Given the description of an element on the screen output the (x, y) to click on. 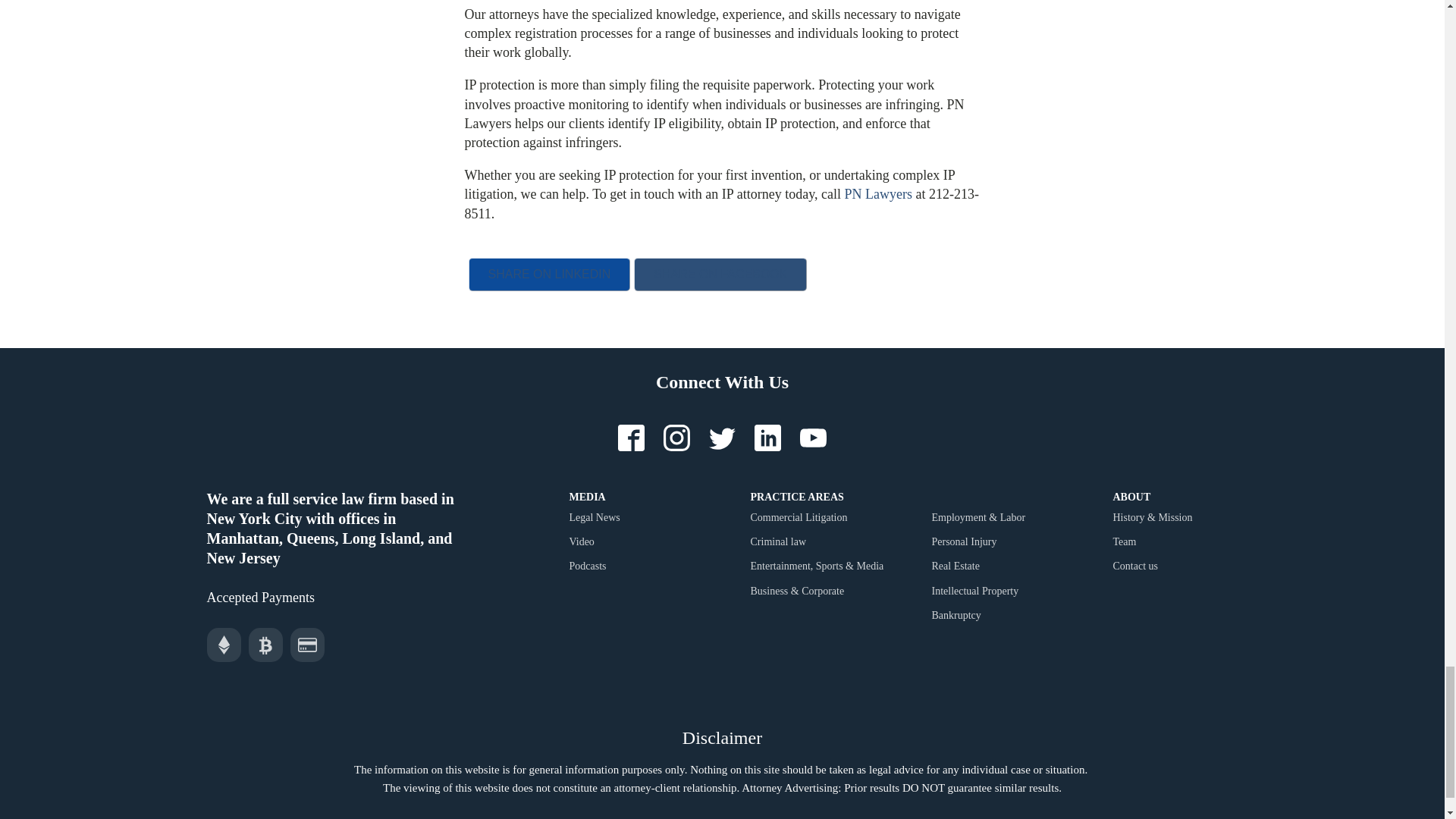
PN Lawyers (877, 193)
Share on Facebook (720, 273)
Share on LinkedIn (549, 273)
